Given the description of an element on the screen output the (x, y) to click on. 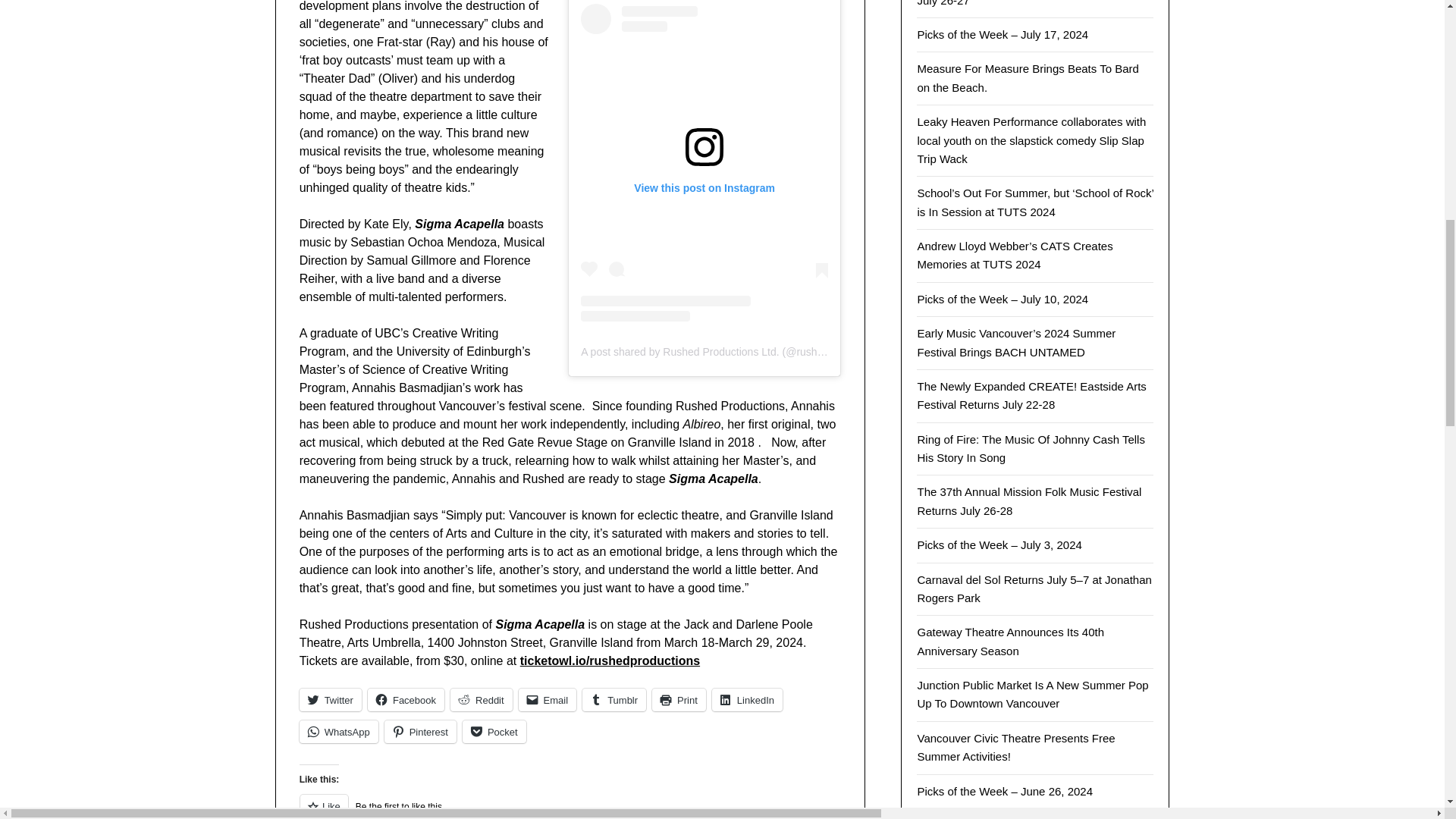
Pocket (494, 731)
Like or Reblog (570, 806)
Click to share on Reddit (480, 699)
Print (679, 699)
Facebook (406, 699)
Click to share on LinkedIn (747, 699)
Pinterest (420, 731)
Click to print (679, 699)
Twitter (330, 699)
Email (547, 699)
Vancouver Art Book Fair Returns In-Person July 26-27 (1025, 2)
Click to share on Twitter (330, 699)
Click to share on WhatsApp (338, 731)
Click to email a link to a friend (547, 699)
Click to share on Pinterest (420, 731)
